Given the description of an element on the screen output the (x, y) to click on. 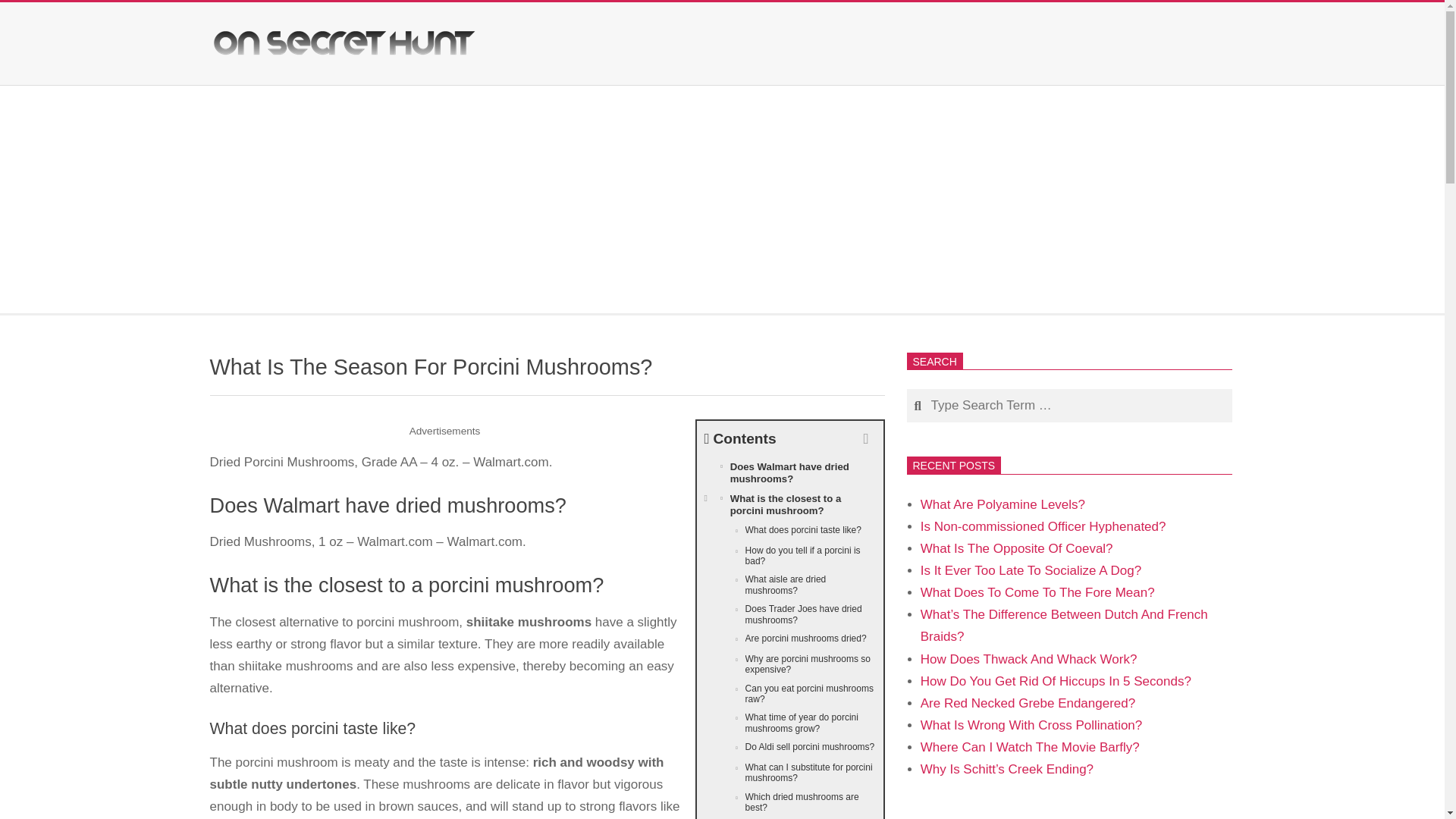
How Do You Get Rid Of Hiccups In 5 Seconds? (1055, 681)
Is It Ever Too Late To Socialize A Dog? (1030, 570)
What can I substitute for porcini mushrooms? (788, 772)
Does Trader Joes have dried mushrooms? (788, 614)
What is the closest to a porcini mushroom? (788, 504)
Is Non-commissioned Officer Hyphenated? (1043, 526)
What aisle are dried mushrooms? (788, 584)
Does Walmart have dried mushrooms? (788, 472)
What time of year do porcini mushrooms grow? (788, 722)
What does porcini taste like? (788, 530)
Which dried mushrooms are best? (788, 802)
What Are Polyamine Levels? (1002, 504)
Do Aldi sell porcini mushrooms? (788, 747)
Why are porcini mushrooms so expensive? (788, 664)
